Given the description of an element on the screen output the (x, y) to click on. 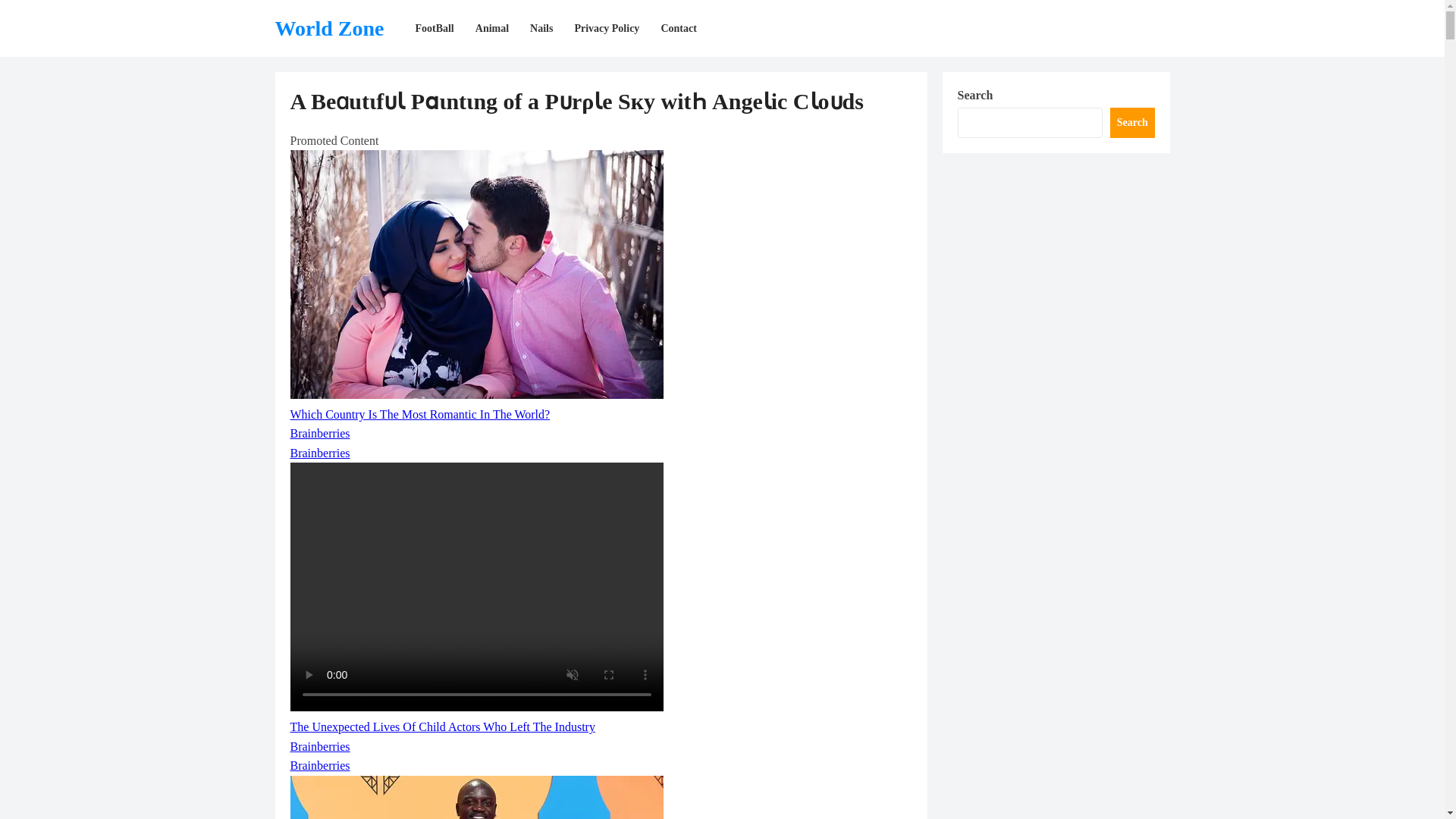
FootBall (434, 28)
World Zone (329, 28)
Contact (677, 28)
Animal (491, 28)
Privacy Policy (605, 28)
